Given the description of an element on the screen output the (x, y) to click on. 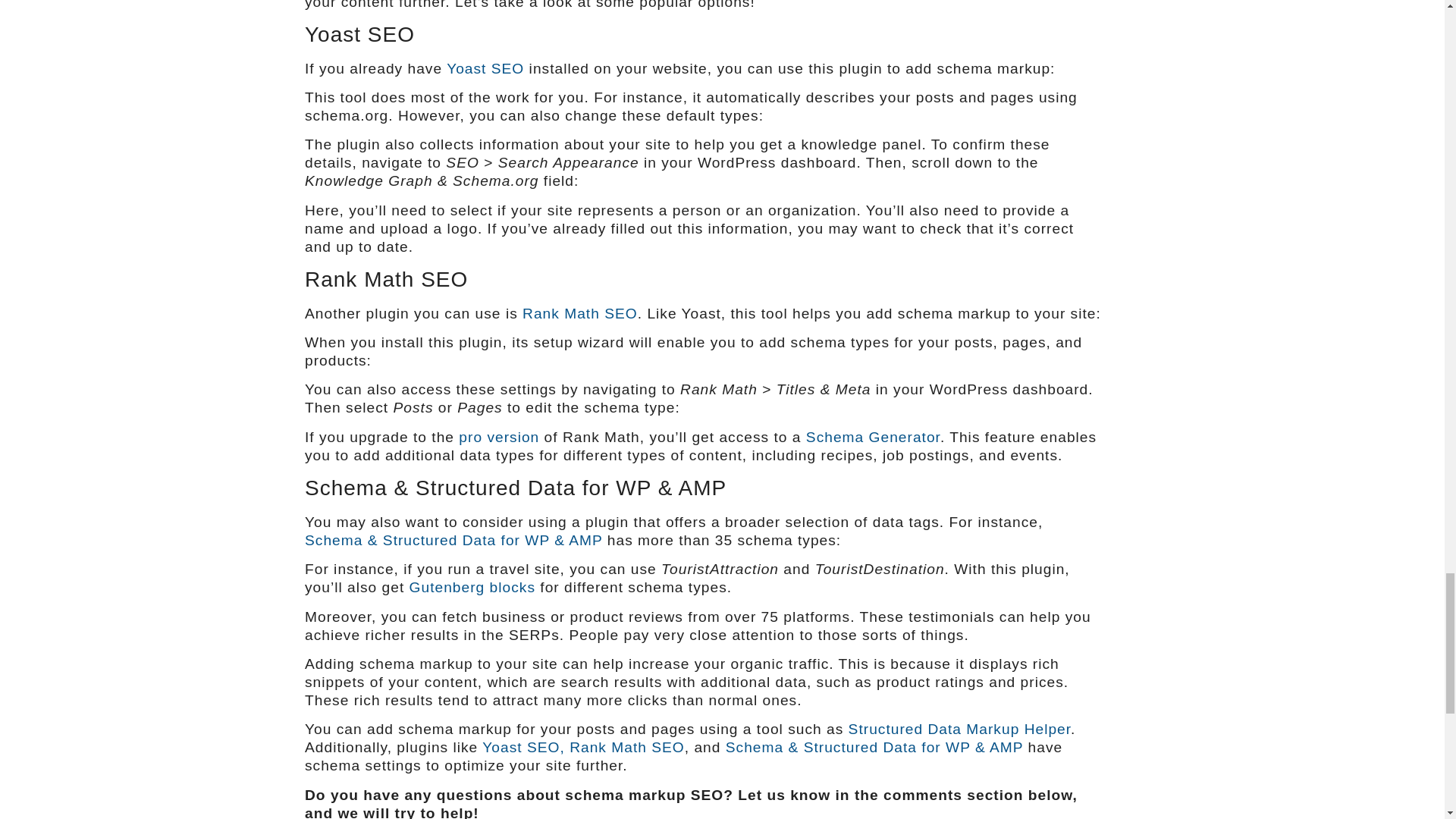
Schema Generator (873, 437)
pro version (498, 437)
Gutenberg blocks (472, 587)
Rank Math SEO (579, 313)
Yoast SEO (485, 68)
